Given the description of an element on the screen output the (x, y) to click on. 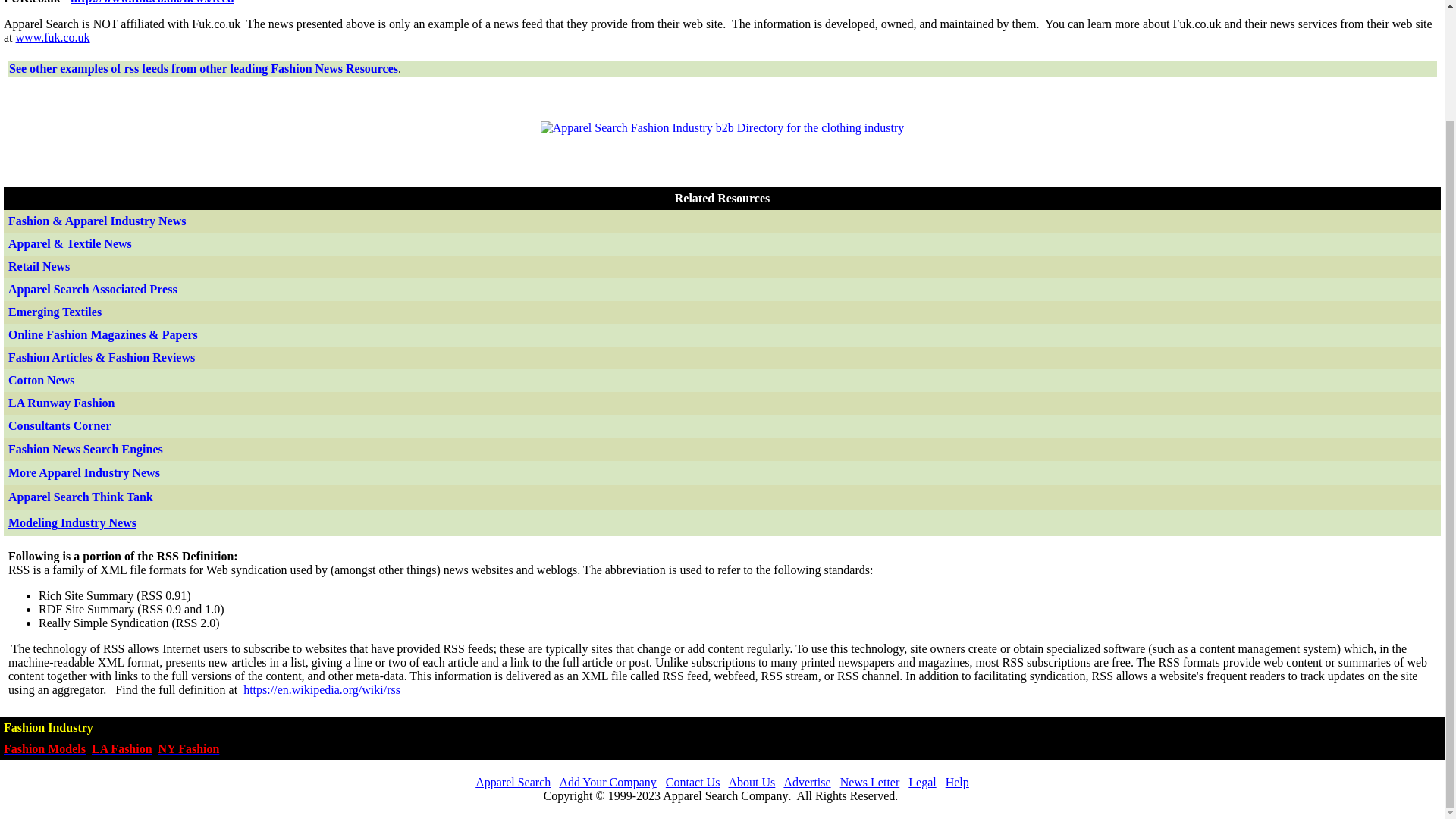
Emerging Textiles (54, 311)
Apparel Search Associated Press  (94, 288)
Legal (922, 781)
Cotton News (41, 379)
Apparel Search Think Tank (80, 496)
Advertise (806, 781)
Add Your Company (607, 781)
Retail News (38, 266)
Consultants Corner (60, 425)
